Given the description of an element on the screen output the (x, y) to click on. 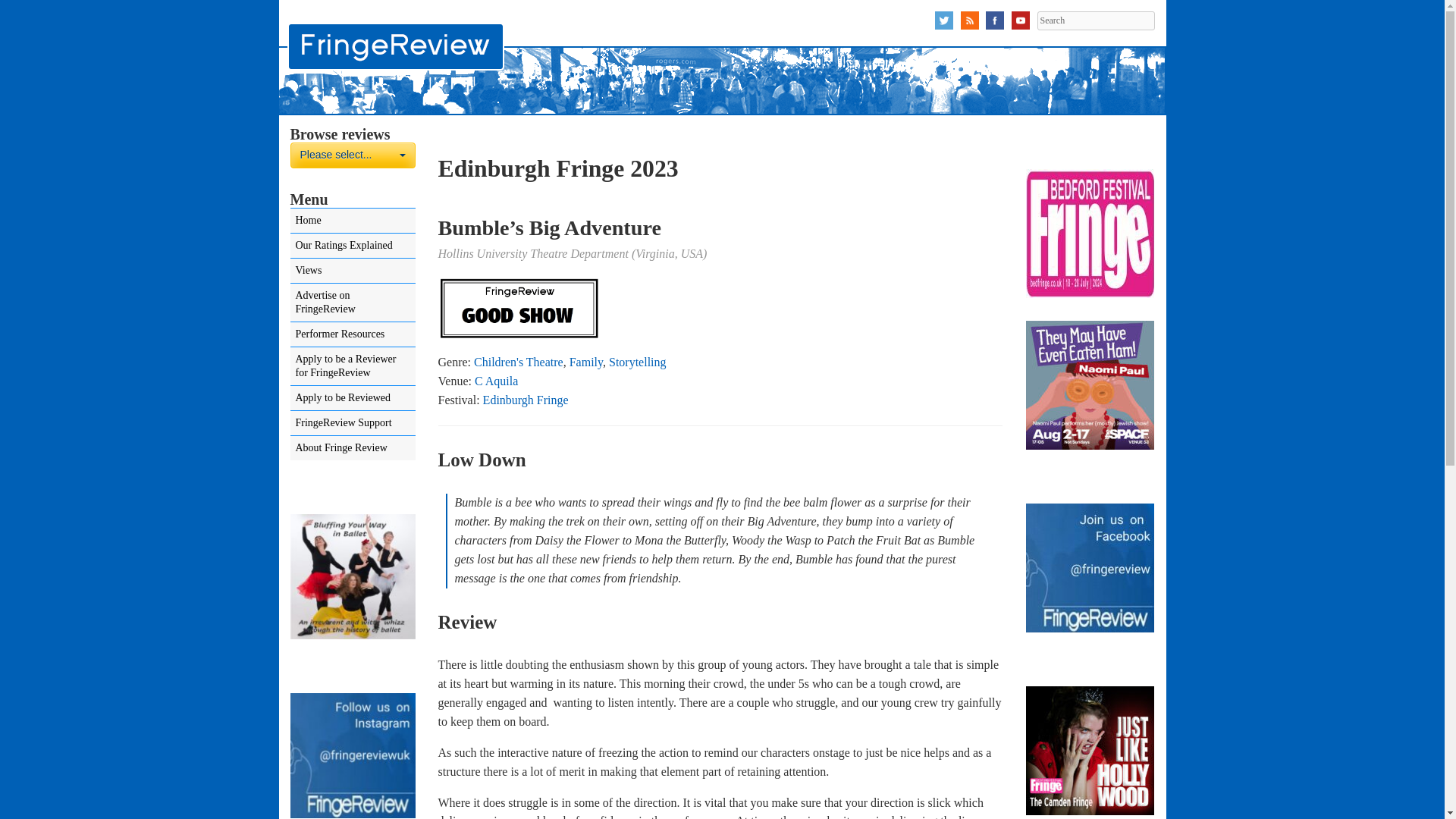
Search for: (351, 155)
Please select... (1095, 20)
Search (351, 155)
Search (1095, 20)
